Given the description of an element on the screen output the (x, y) to click on. 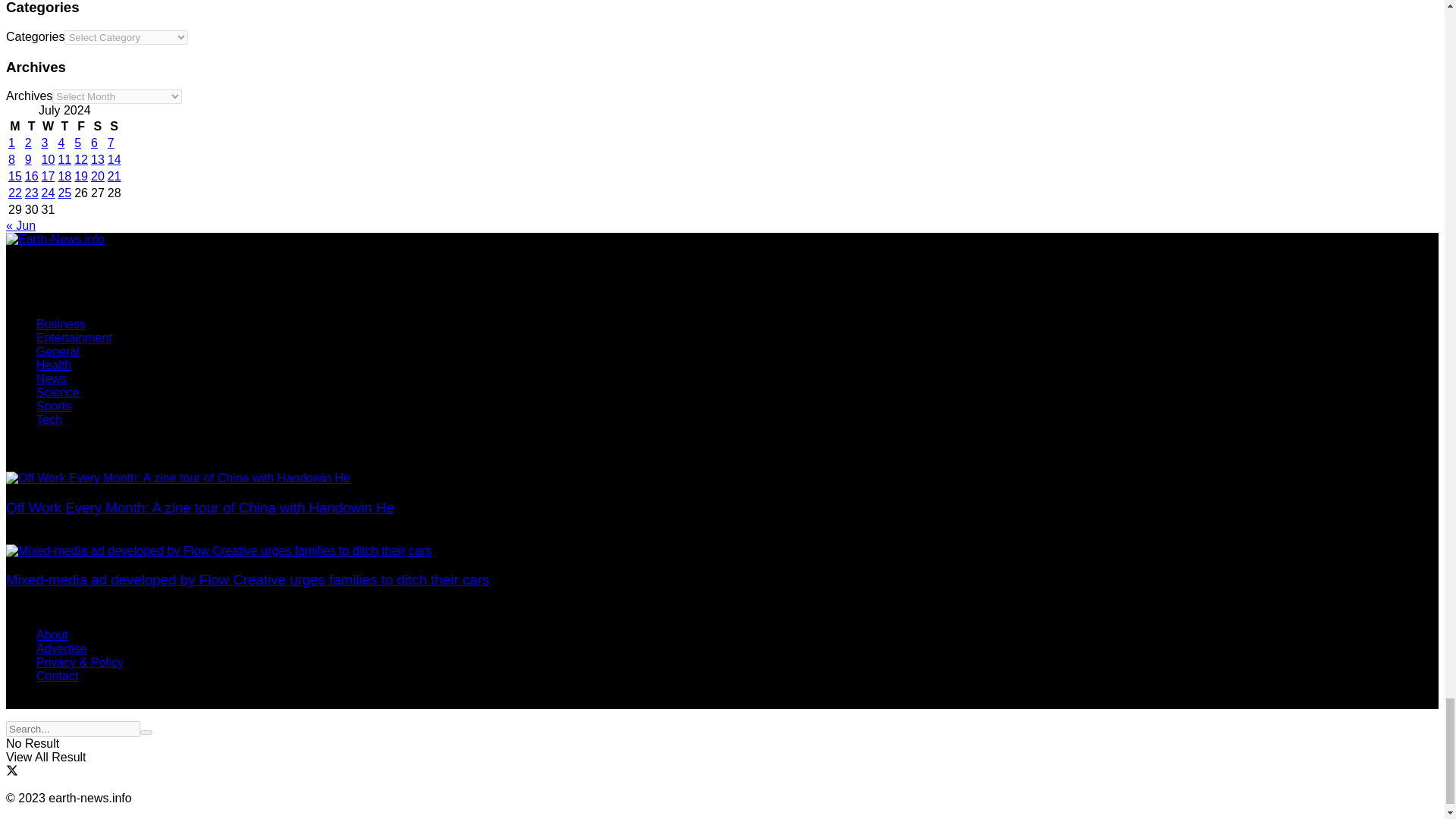
Wednesday (48, 126)
Thursday (63, 126)
Sunday (114, 126)
Tuesday (31, 126)
Saturday (97, 126)
Monday (15, 126)
Friday (81, 126)
